Given the description of an element on the screen output the (x, y) to click on. 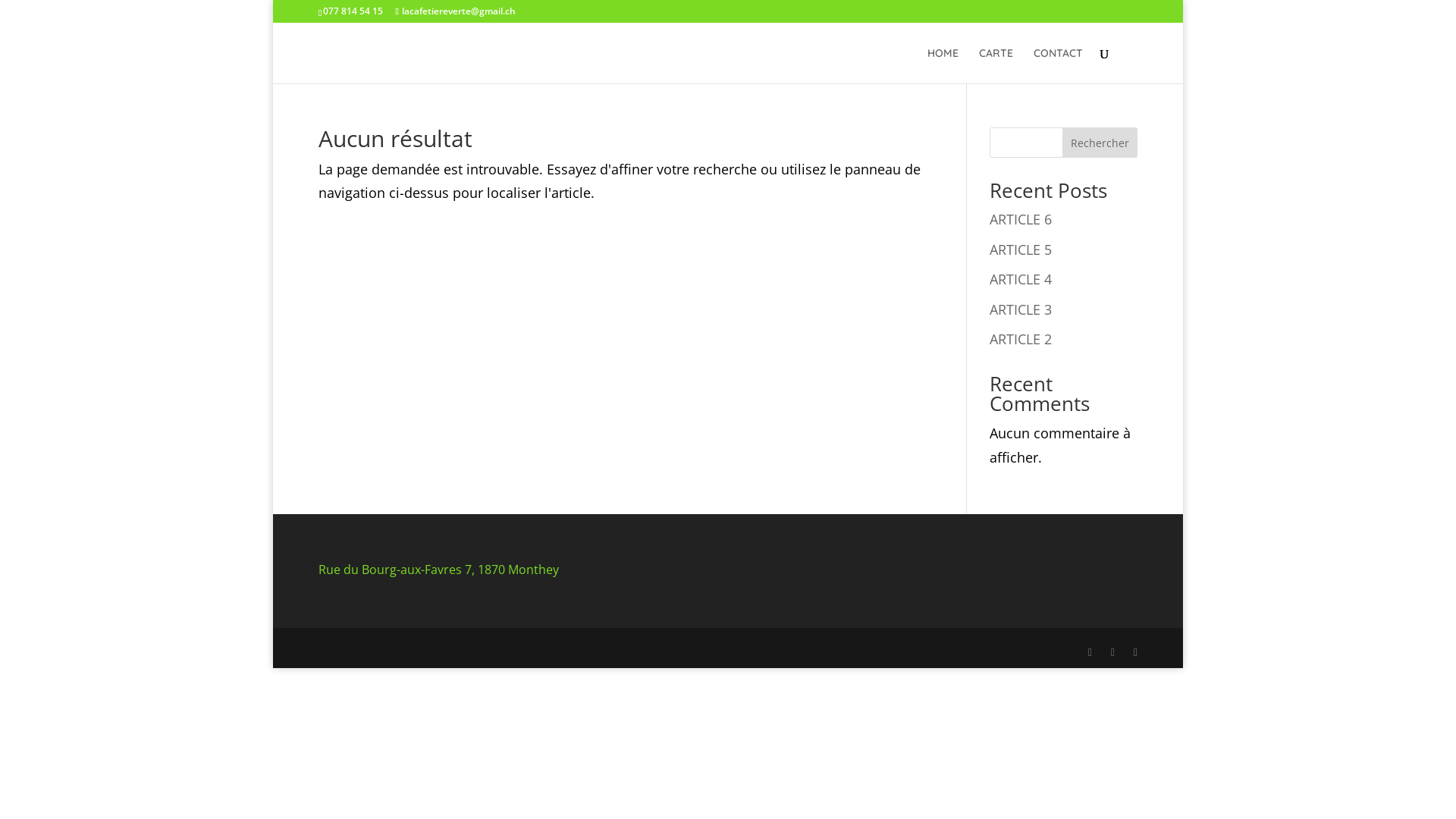
ARTICLE 4 Element type: text (1020, 278)
lacafetiereverte@gmail.ch Element type: text (454, 10)
HOME Element type: text (942, 65)
Rechercher Element type: text (1099, 142)
ARTICLE 5 Element type: text (1020, 249)
CONTACT Element type: text (1057, 65)
ARTICLE 6 Element type: text (1020, 219)
ARTICLE 2 Element type: text (1020, 338)
CARTE Element type: text (996, 65)
ARTICLE 3 Element type: text (1020, 309)
